Given the description of an element on the screen output the (x, y) to click on. 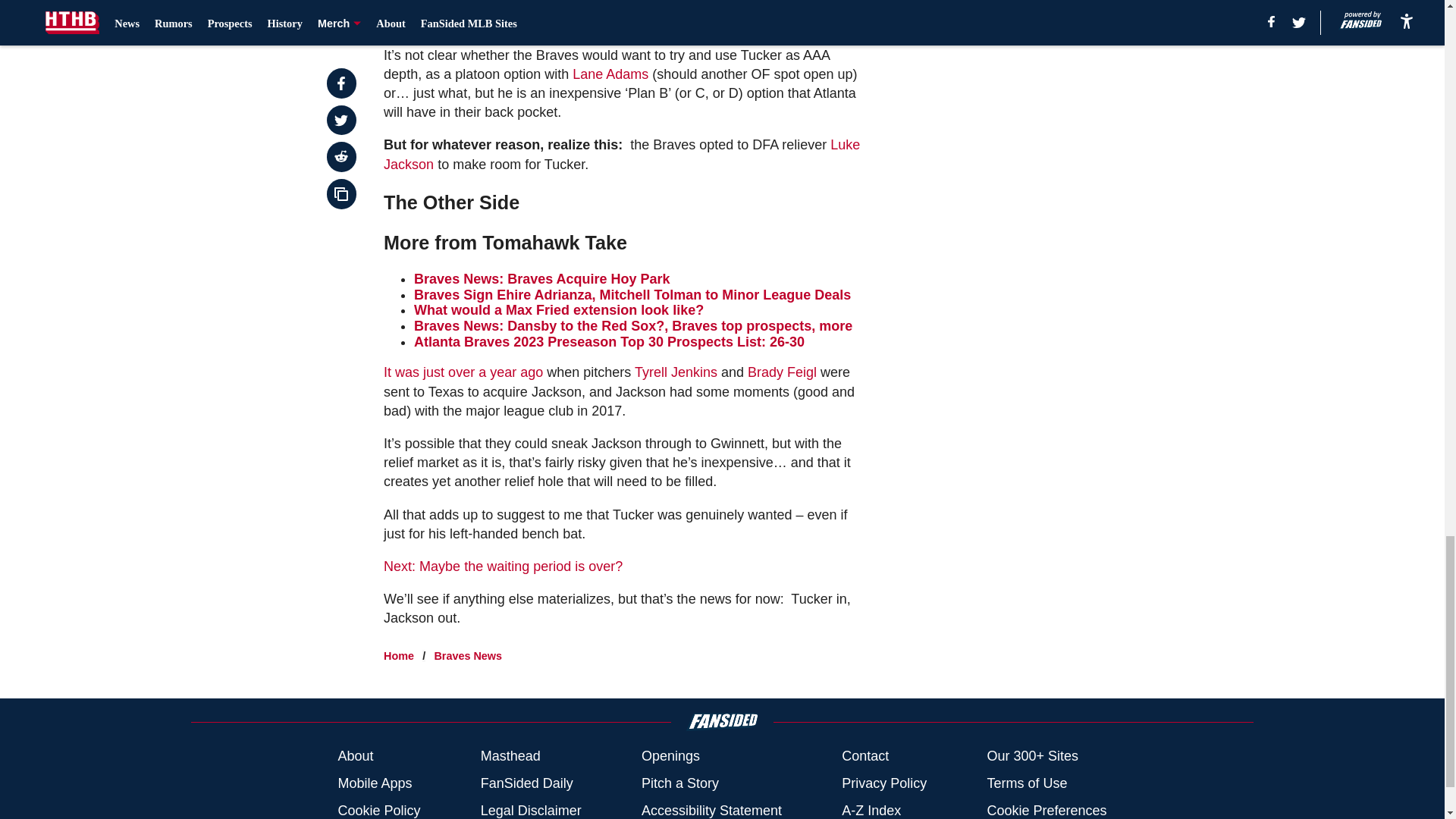
Lane Adams (609, 73)
What would a Max Fried extension look like? (558, 309)
Braves News: Braves Acquire Hoy Park (541, 278)
Luke Jackson (622, 154)
